Given the description of an element on the screen output the (x, y) to click on. 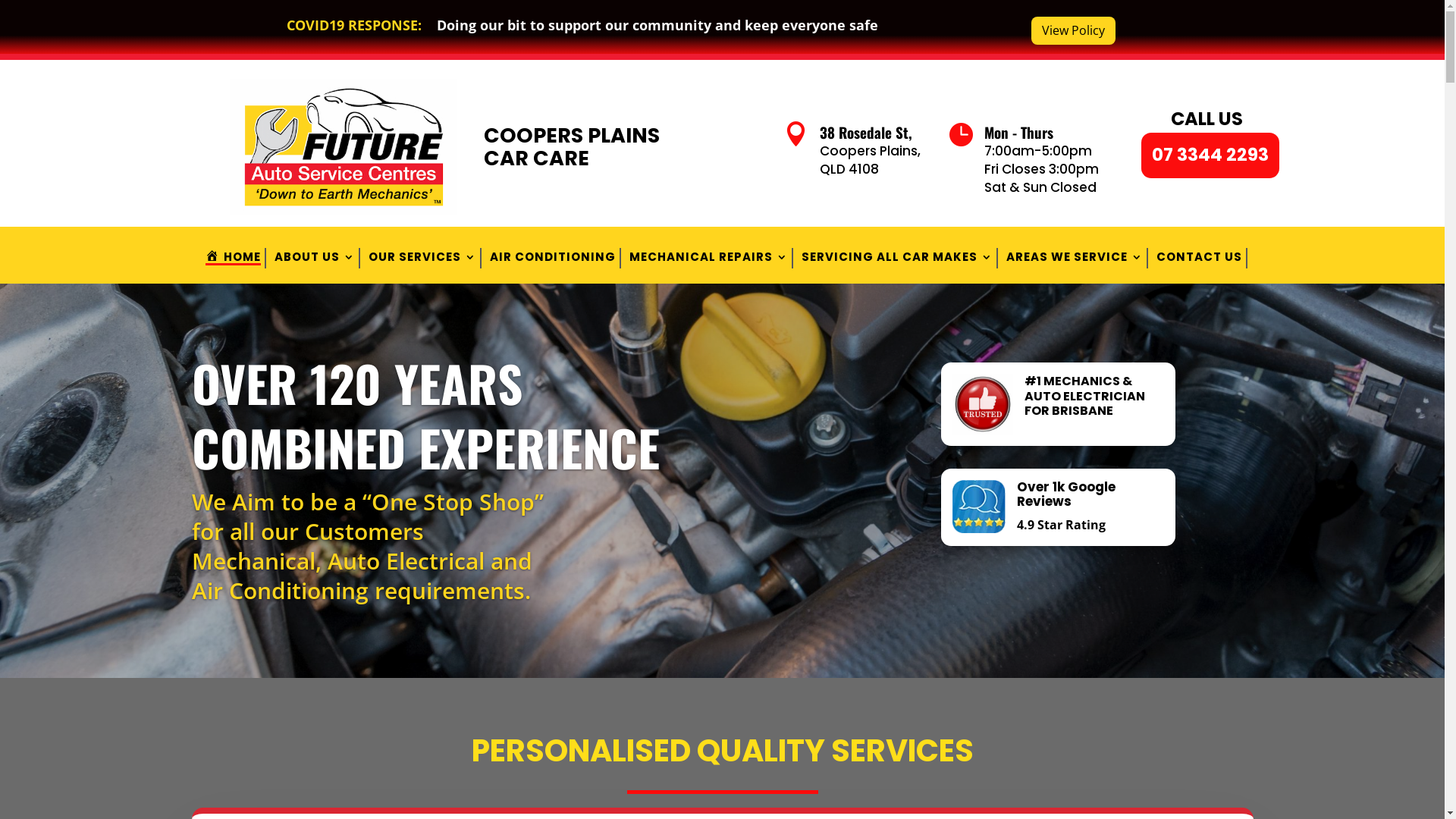
AIR CONDITIONING Element type: text (552, 259)
SERVICING ALL CAR MAKES Element type: text (896, 259)
New Future - Cooper's Plains Car Care Logo_485x291 Element type: hover (342, 146)
CONTACT US Element type: text (1199, 259)
OUR SERVICES Element type: text (422, 259)
ABOUT US Element type: text (314, 259)
AREAS WE SERVICE Element type: text (1074, 259)
07 3344 2293 Element type: text (1209, 154)
View Policy Element type: text (1073, 30)
HOME Element type: text (232, 259)
MECHANICAL REPAIRS Element type: text (708, 259)
